Given the description of an element on the screen output the (x, y) to click on. 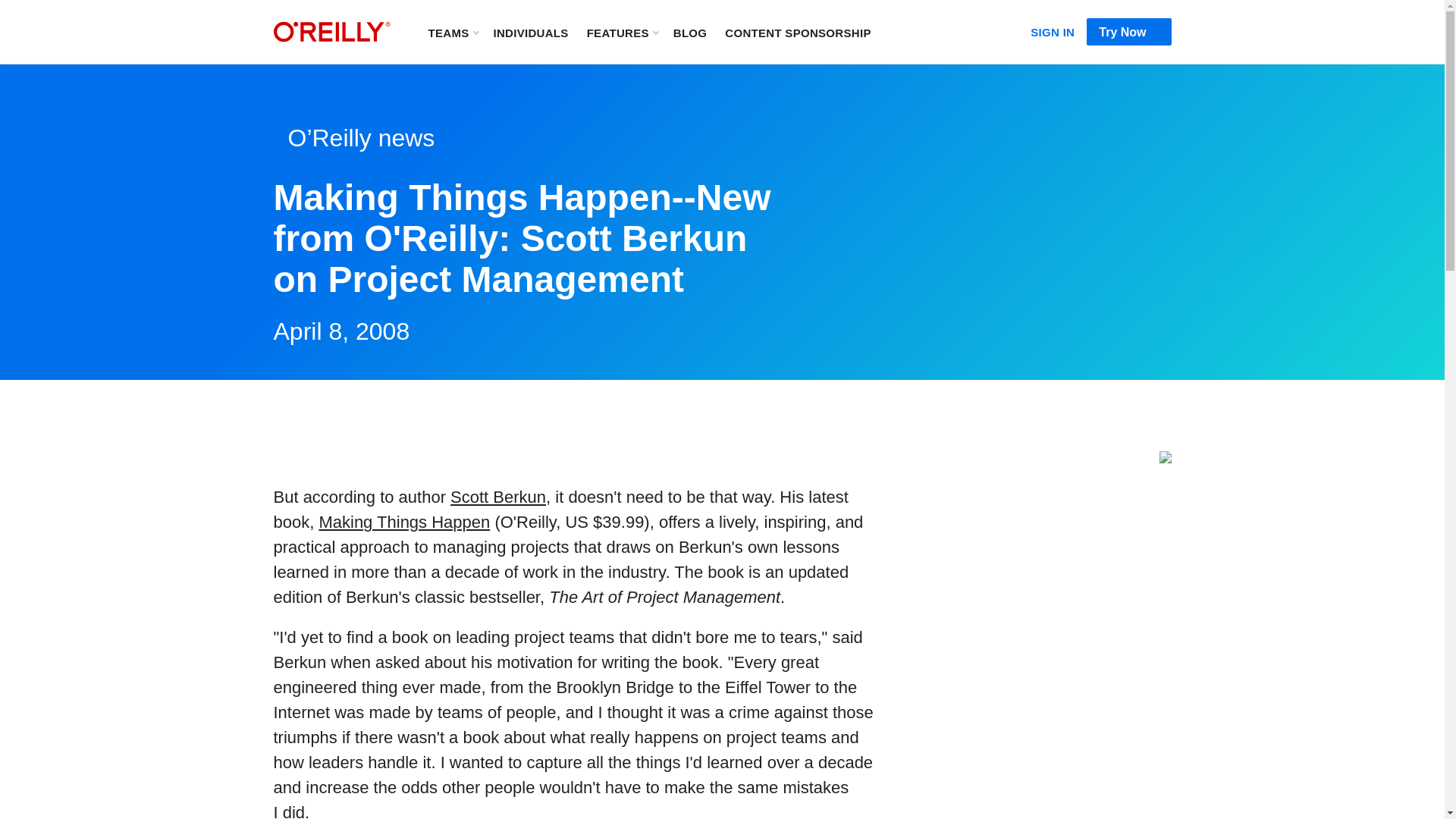
Search (903, 31)
Scott Berkun (497, 496)
BLOG (689, 31)
TEAMS (452, 31)
Making Things Happen (403, 521)
home page (331, 31)
SIGN IN (1052, 29)
FEATURES (622, 31)
INDIVIDUALS (530, 31)
CONTENT SPONSORSHIP (797, 31)
